Given the description of an element on the screen output the (x, y) to click on. 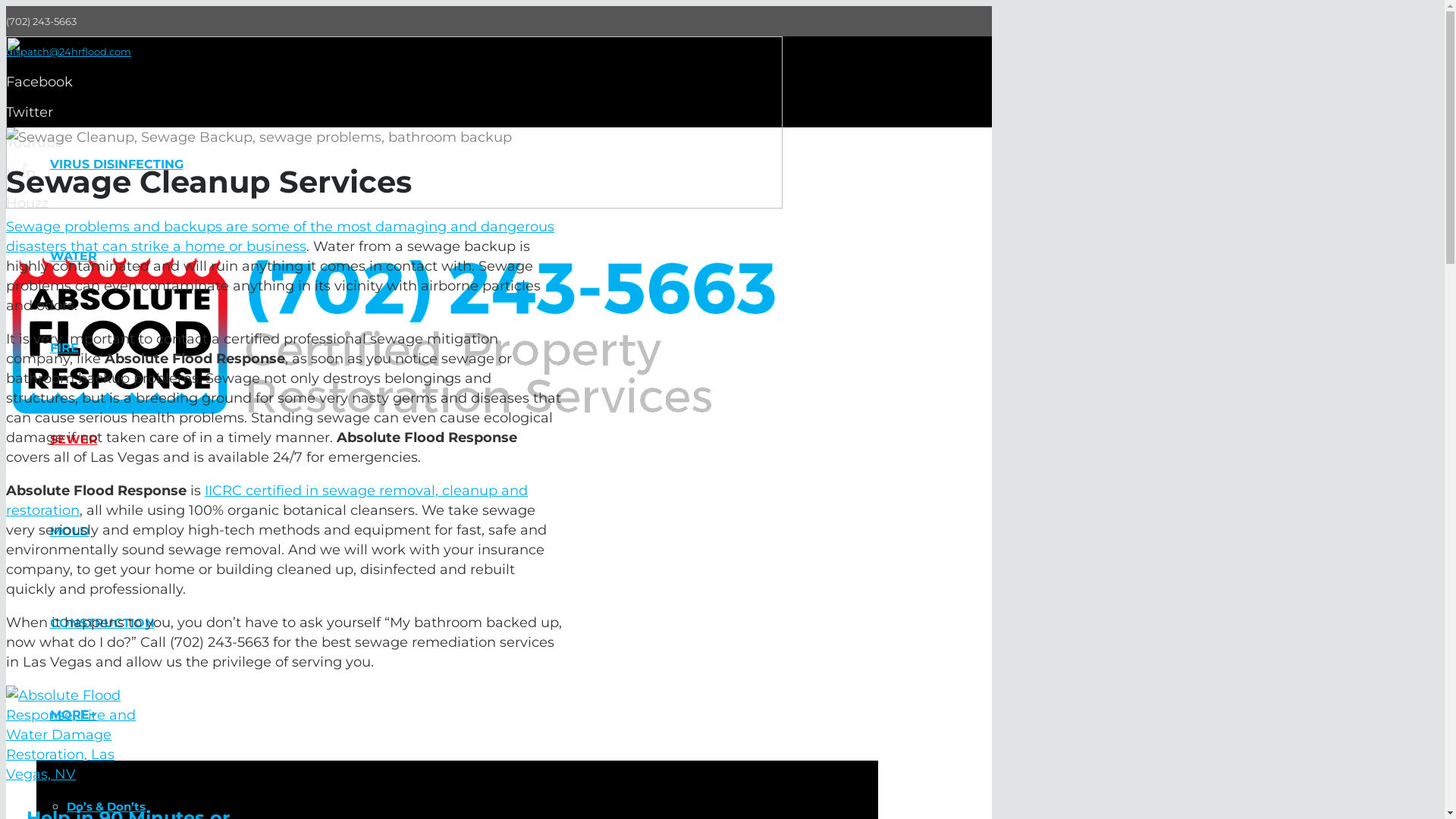
SEWER Element type: text (73, 439)
MOLD Element type: text (69, 531)
VIRUS DISINFECTING Element type: text (116, 163)
WATER Element type: text (72, 255)
IICRC certified in sewage removal, cleanup and restoration Element type: text (266, 500)
CONSTRUCTION Element type: text (101, 622)
dispatch@24hrflood.com Element type: text (68, 51)
FIRE Element type: text (63, 347)
MORE+ Element type: text (72, 714)
